Given the description of an element on the screen output the (x, y) to click on. 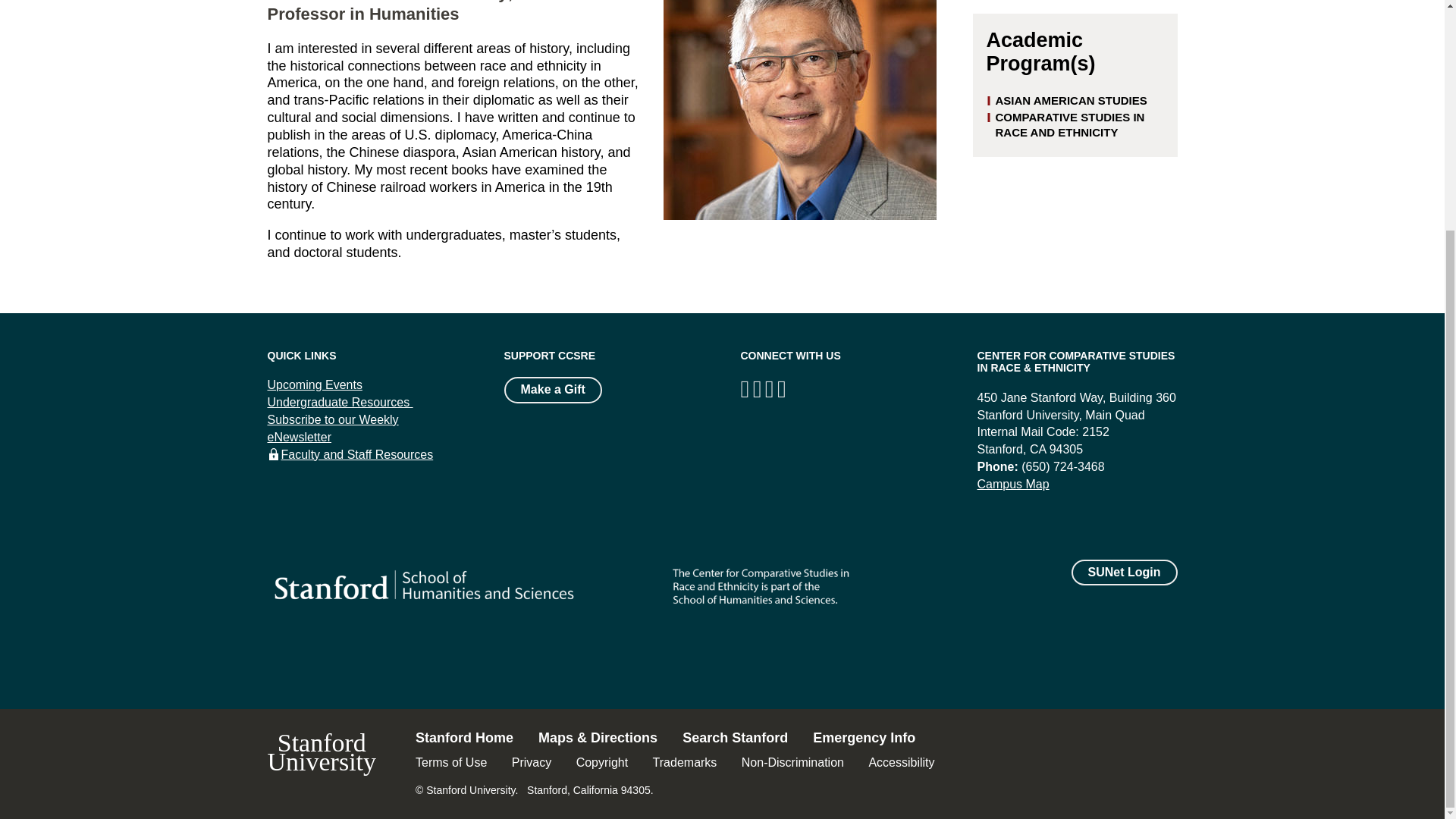
Non-discrimination policy (792, 762)
Privacy and cookie policy (531, 762)
Ownership and use of Stanford trademarks and images (684, 762)
Terms of use for sites (450, 762)
Report web accessibility issues (900, 762)
Report alleged copyright infringement (601, 762)
